Given the description of an element on the screen output the (x, y) to click on. 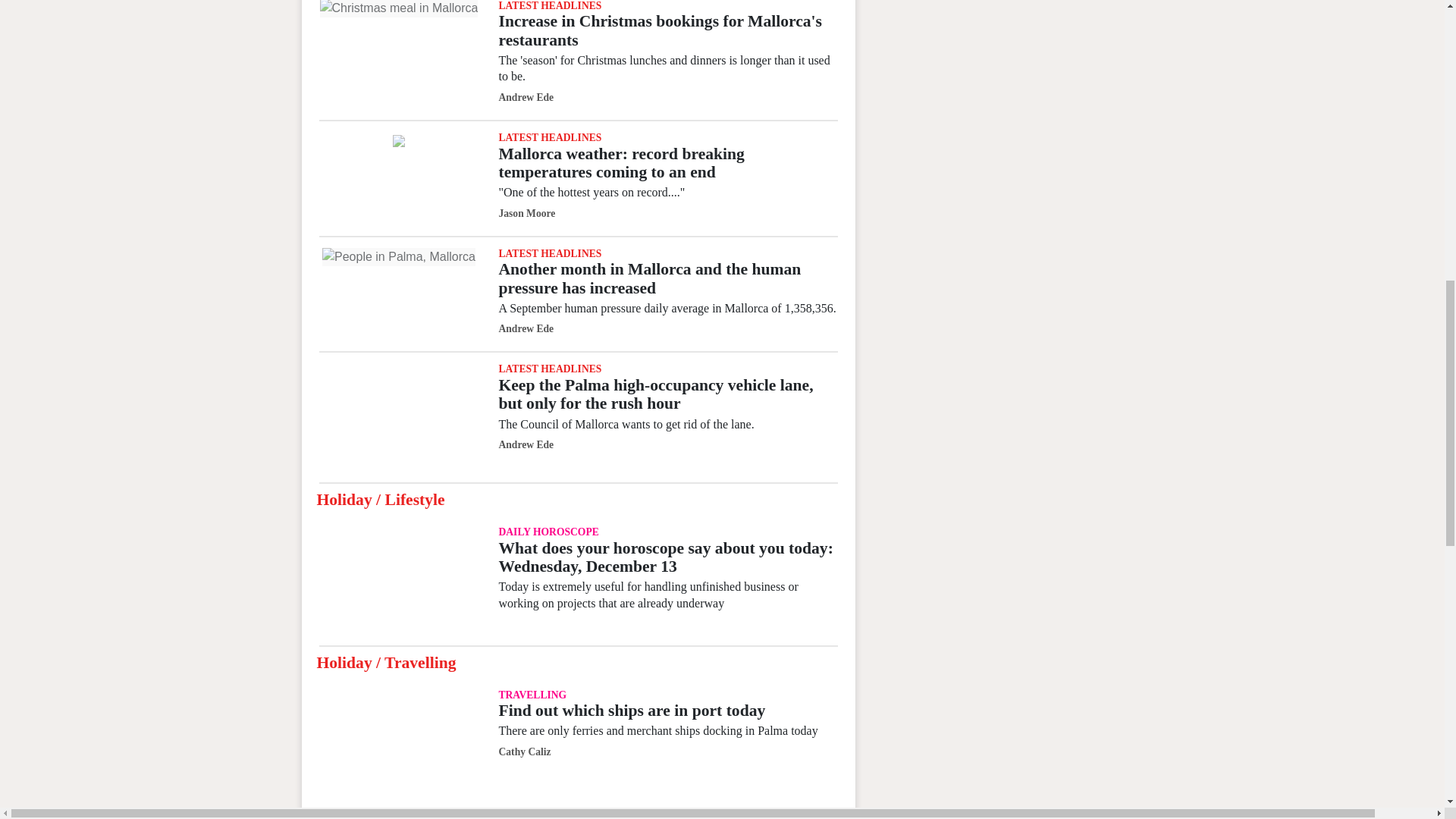
Find out which ships are in port today (399, 743)
Find out which ships are in port today (631, 710)
Increase in Christmas bookings for Mallorca's restaurants (399, 9)
